Given the description of an element on the screen output the (x, y) to click on. 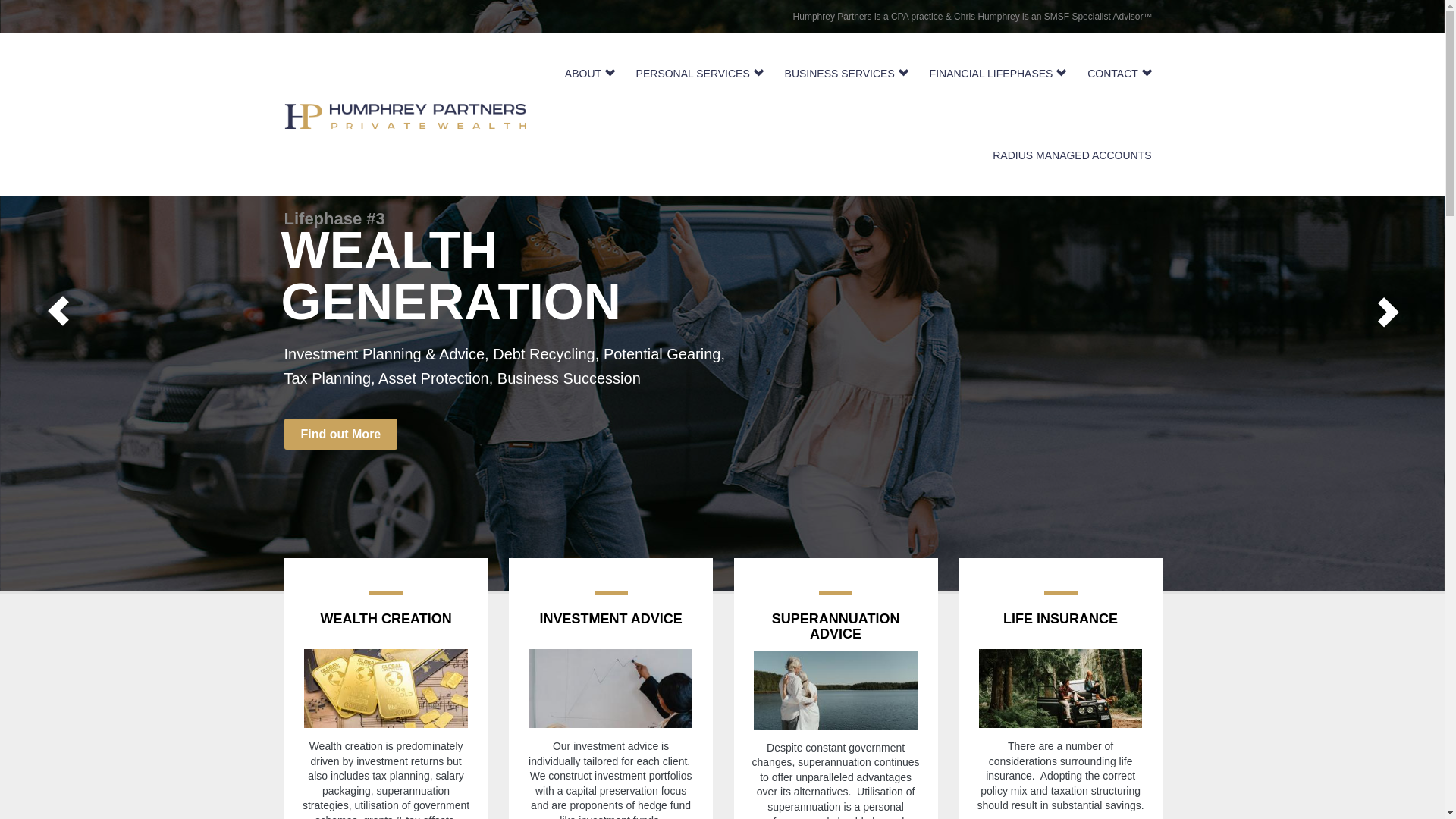
Saving Schemes & Grants Element type: text (372, 302)
FINANCIAL LIFEPHASES Element type: text (998, 74)
Asset Protection & Estate Planning Element type: text (400, 326)
RADIUS MANAGED ACCOUNTS Element type: text (1071, 156)
Property Advice Element type: text (578, 326)
PERSONAL SERVICES Element type: text (699, 74)
Find out More Element type: text (333, 382)
Superannuation Element type: text (649, 302)
BUSINESS SERVICES Element type: text (846, 74)
ABOUT Element type: text (589, 74)
Salary Packaging Element type: text (529, 302)
CONTACT Element type: text (1119, 74)
